Given the description of an element on the screen output the (x, y) to click on. 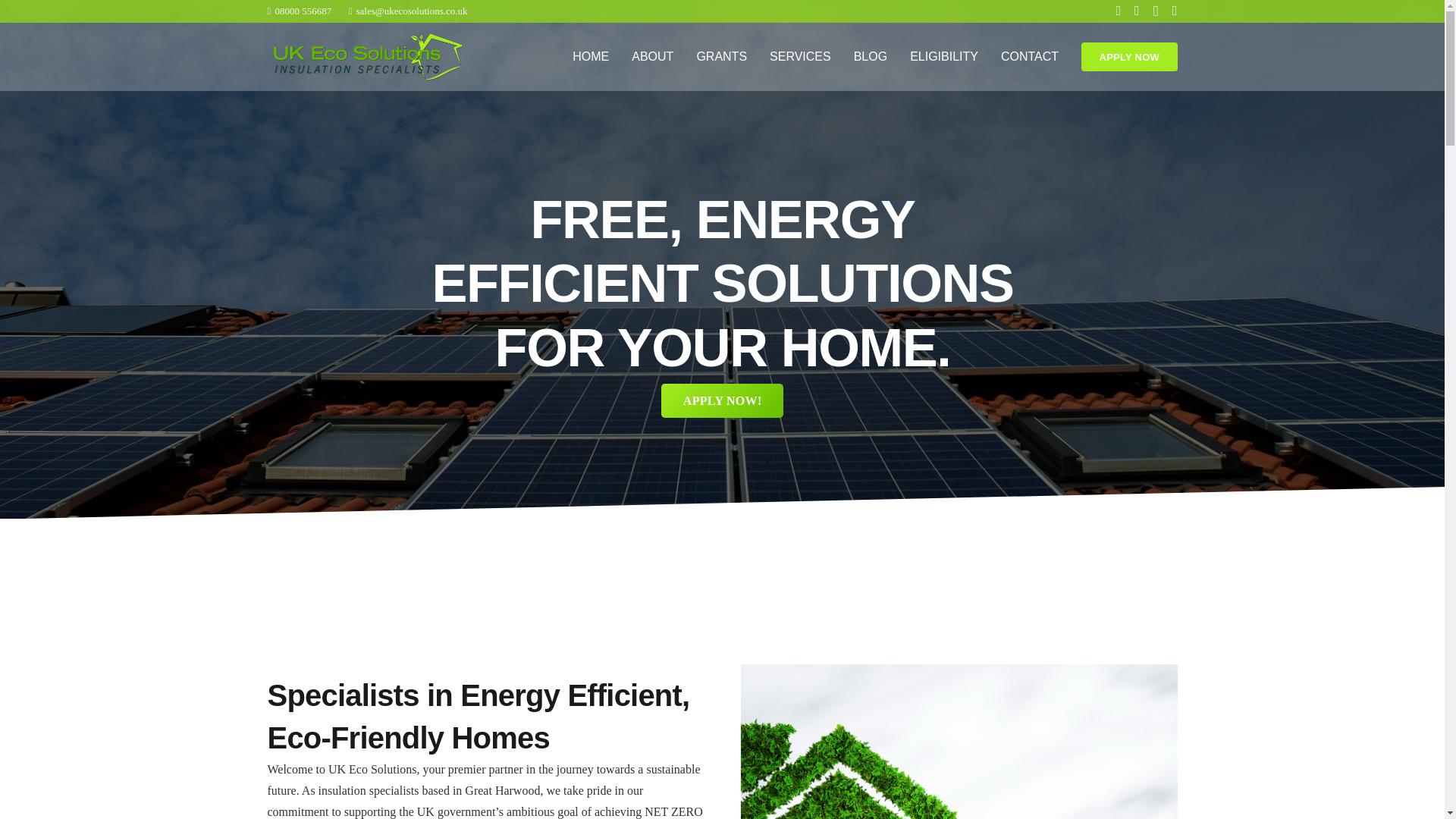
APPLY NOW! (722, 400)
ABOUT (652, 56)
CHECK NOW! (636, 605)
LinkedIn (969, 655)
APPLY NOW (800, 56)
GRANTS (1128, 56)
08000 556687 (721, 56)
APPLY NOW! (298, 10)
Facebook (722, 400)
TikTok (923, 655)
Instagram (1059, 655)
CONTACT (1013, 655)
ELIGIBILITY (1030, 56)
